Given the description of an element on the screen output the (x, y) to click on. 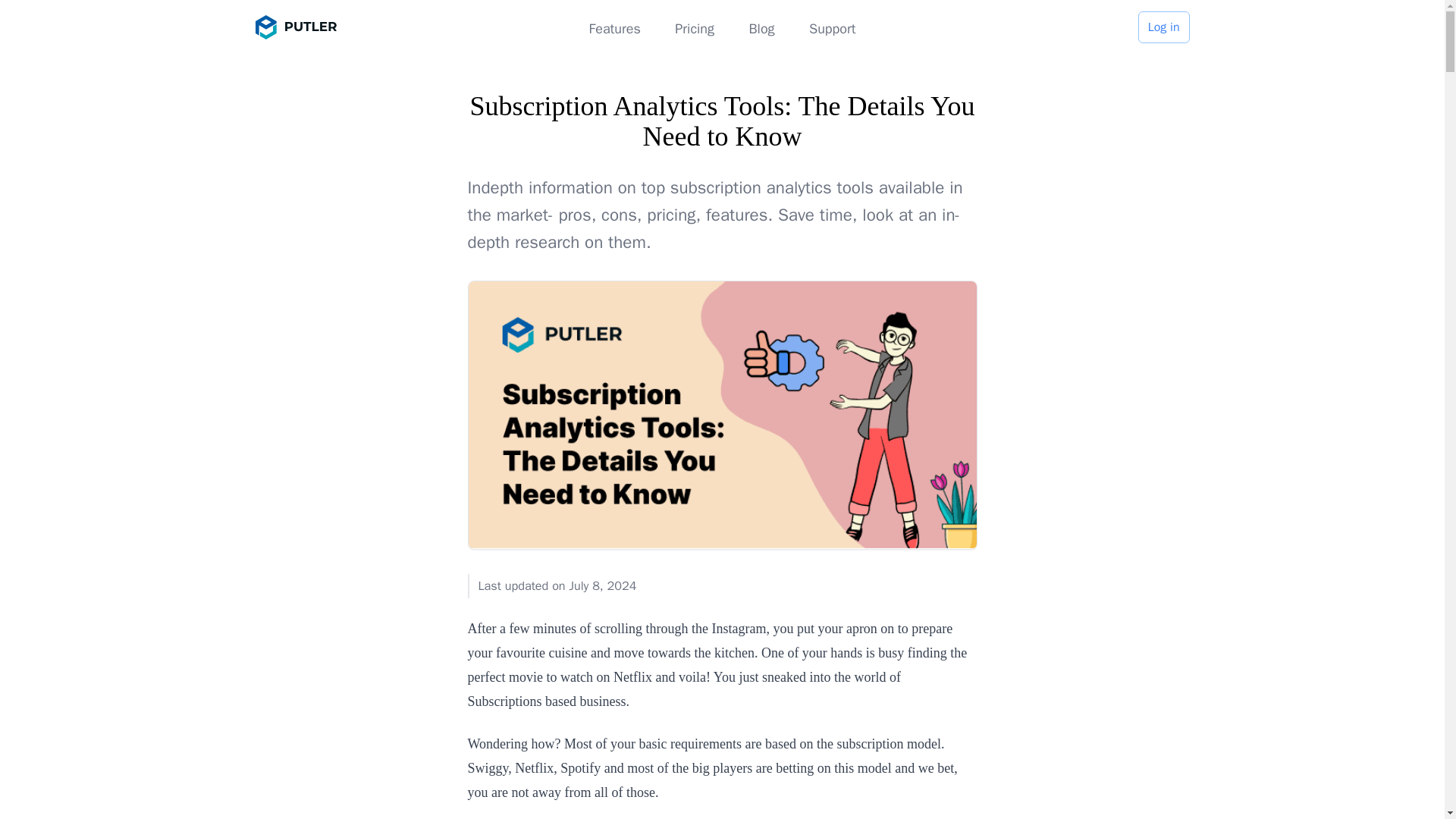
Features (614, 28)
Blog (761, 28)
Log in (1163, 27)
Support (832, 28)
Pricing (694, 28)
